Given the description of an element on the screen output the (x, y) to click on. 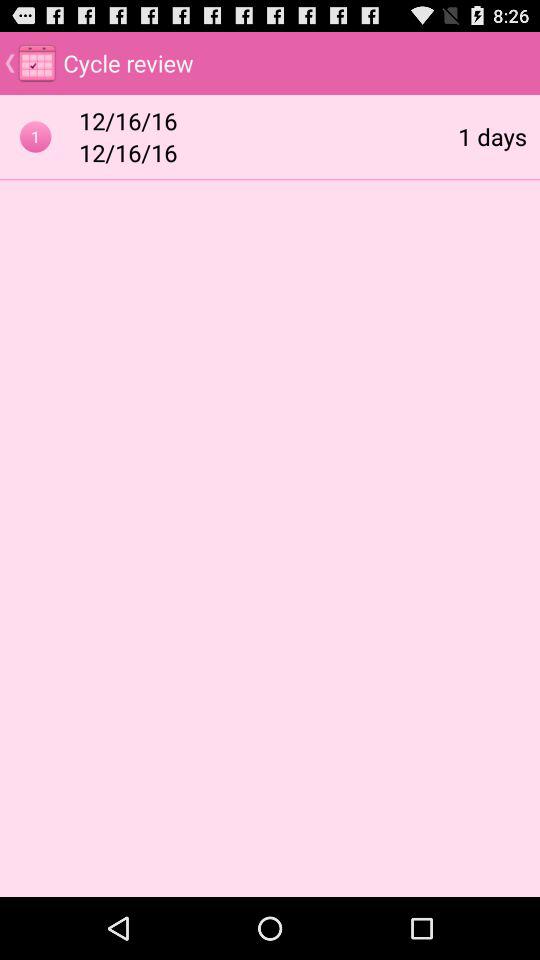
open the 1 days app (492, 136)
